Given the description of an element on the screen output the (x, y) to click on. 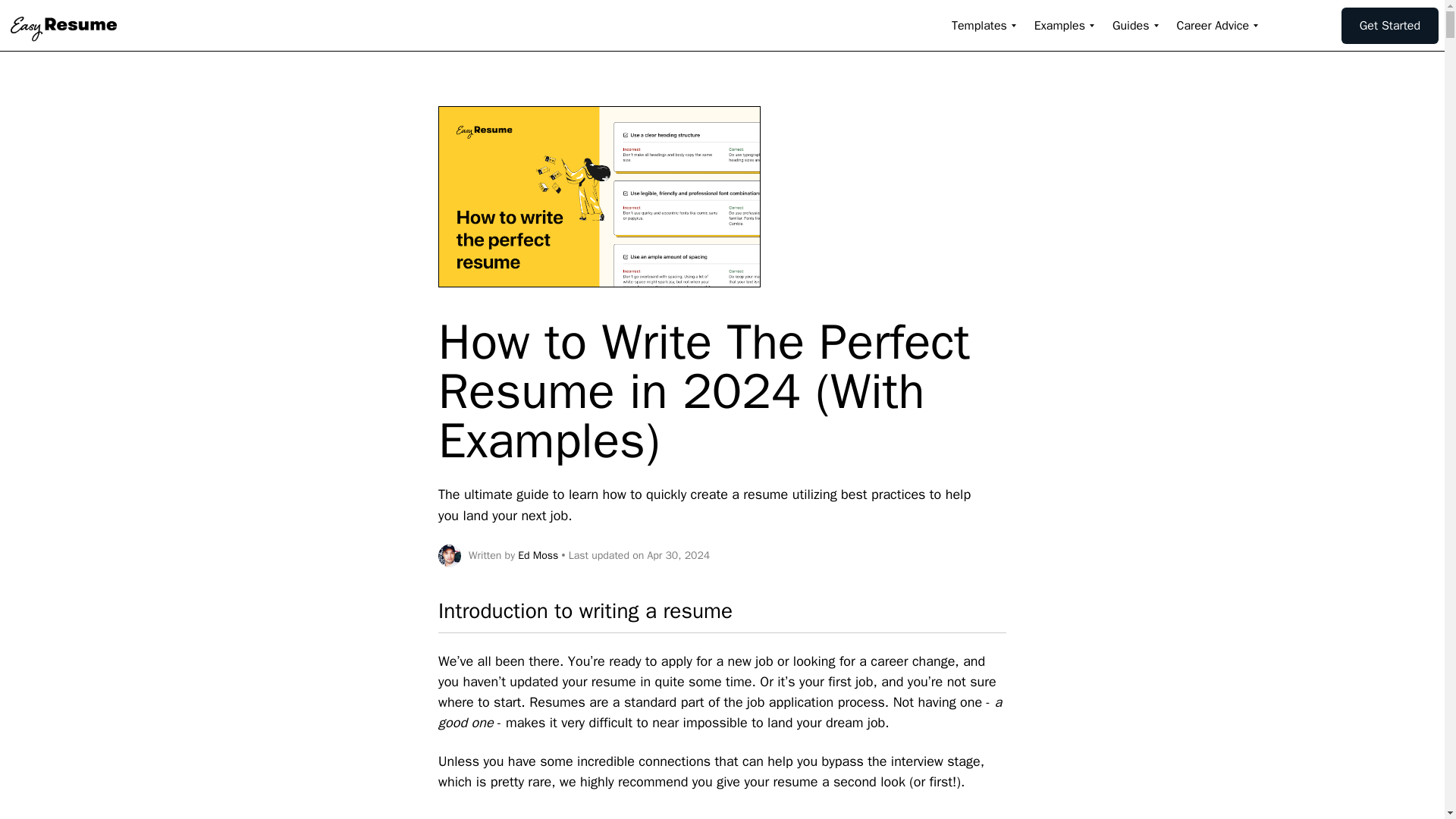
Examples (1058, 25)
Templates (979, 25)
Career Advice (1212, 25)
Guides (1131, 25)
